Given the description of an element on the screen output the (x, y) to click on. 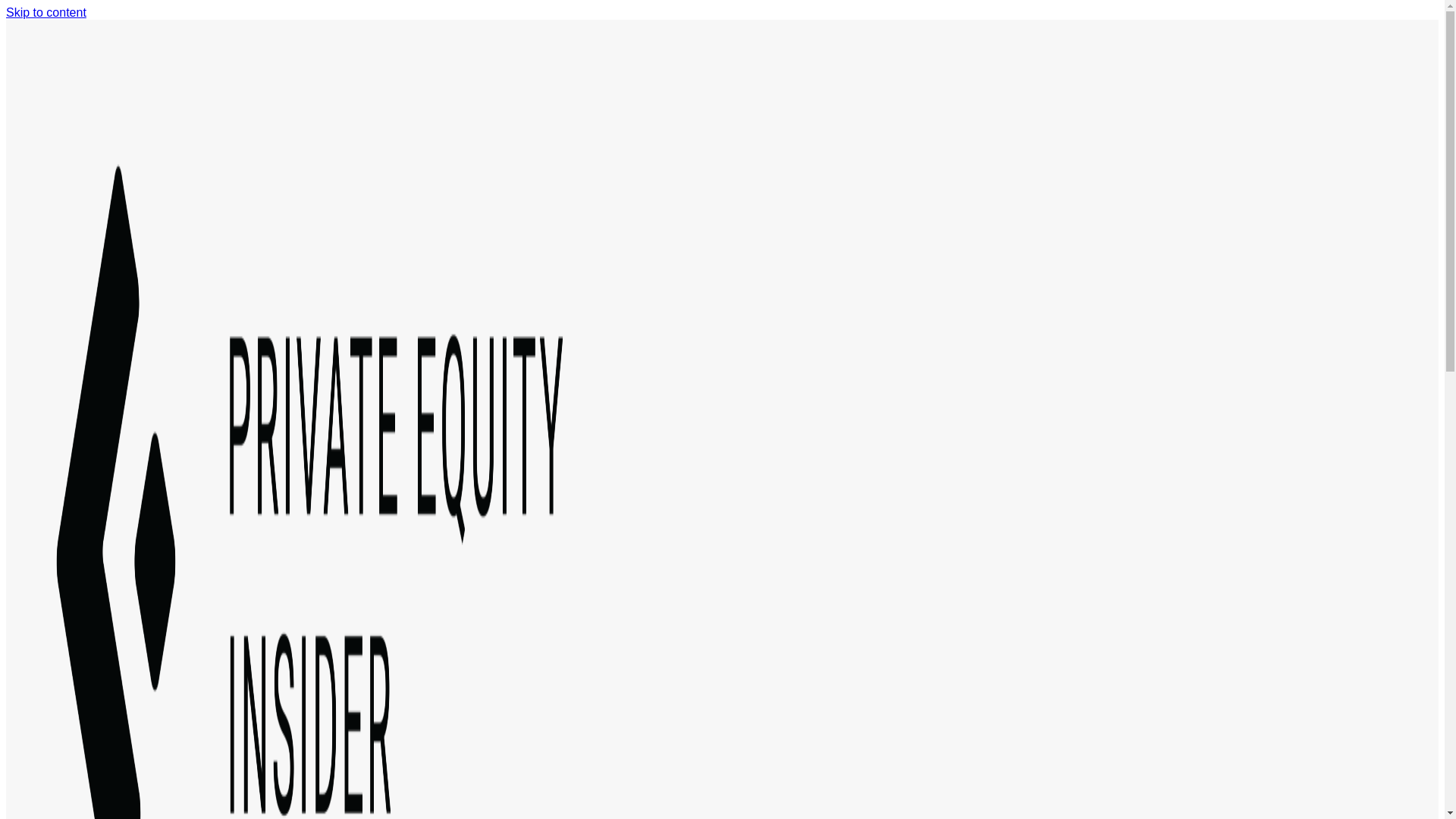
Skip to content (45, 11)
